Given the description of an element on the screen output the (x, y) to click on. 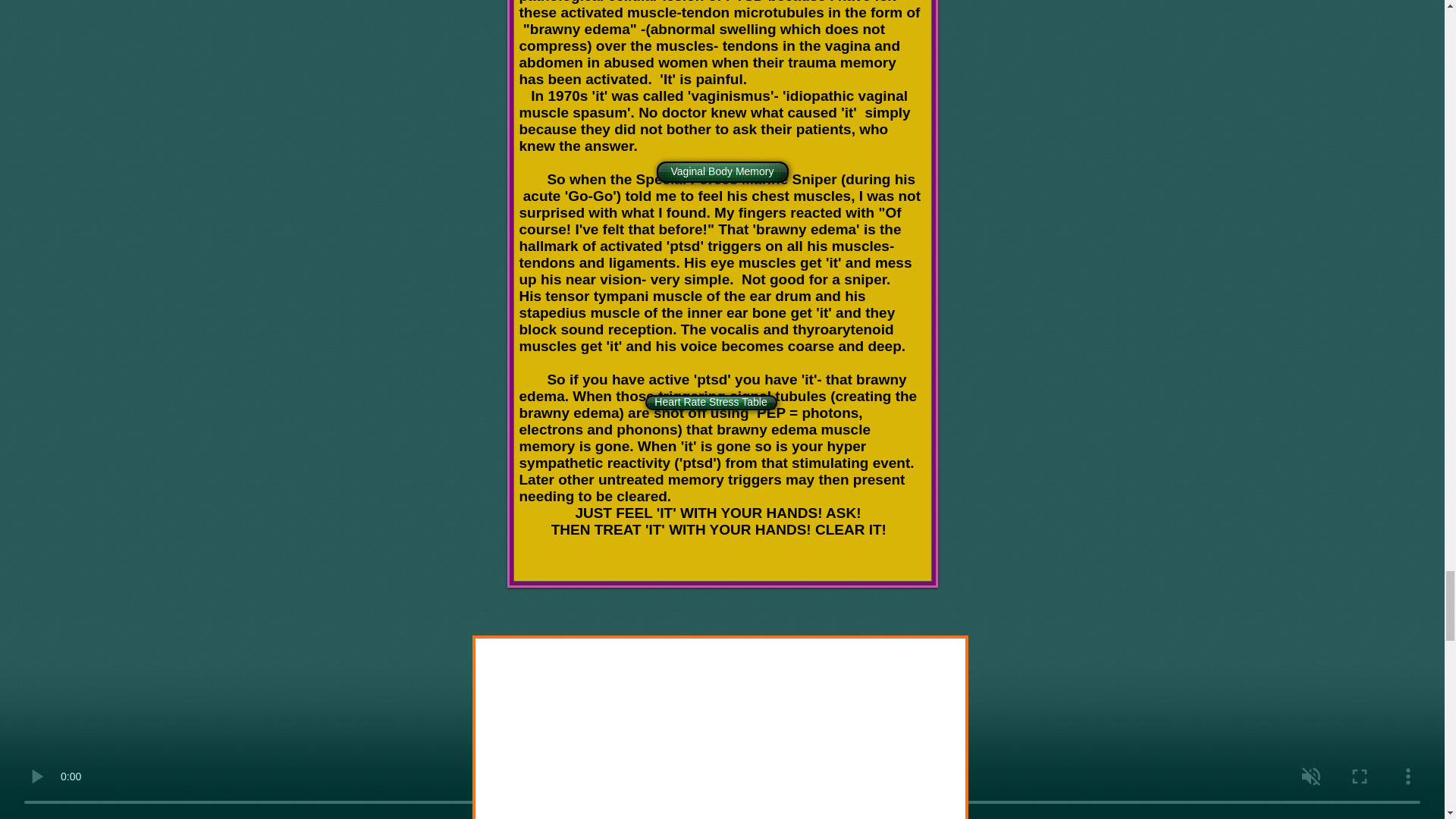
External YouTube (720, 736)
